Given the description of an element on the screen output the (x, y) to click on. 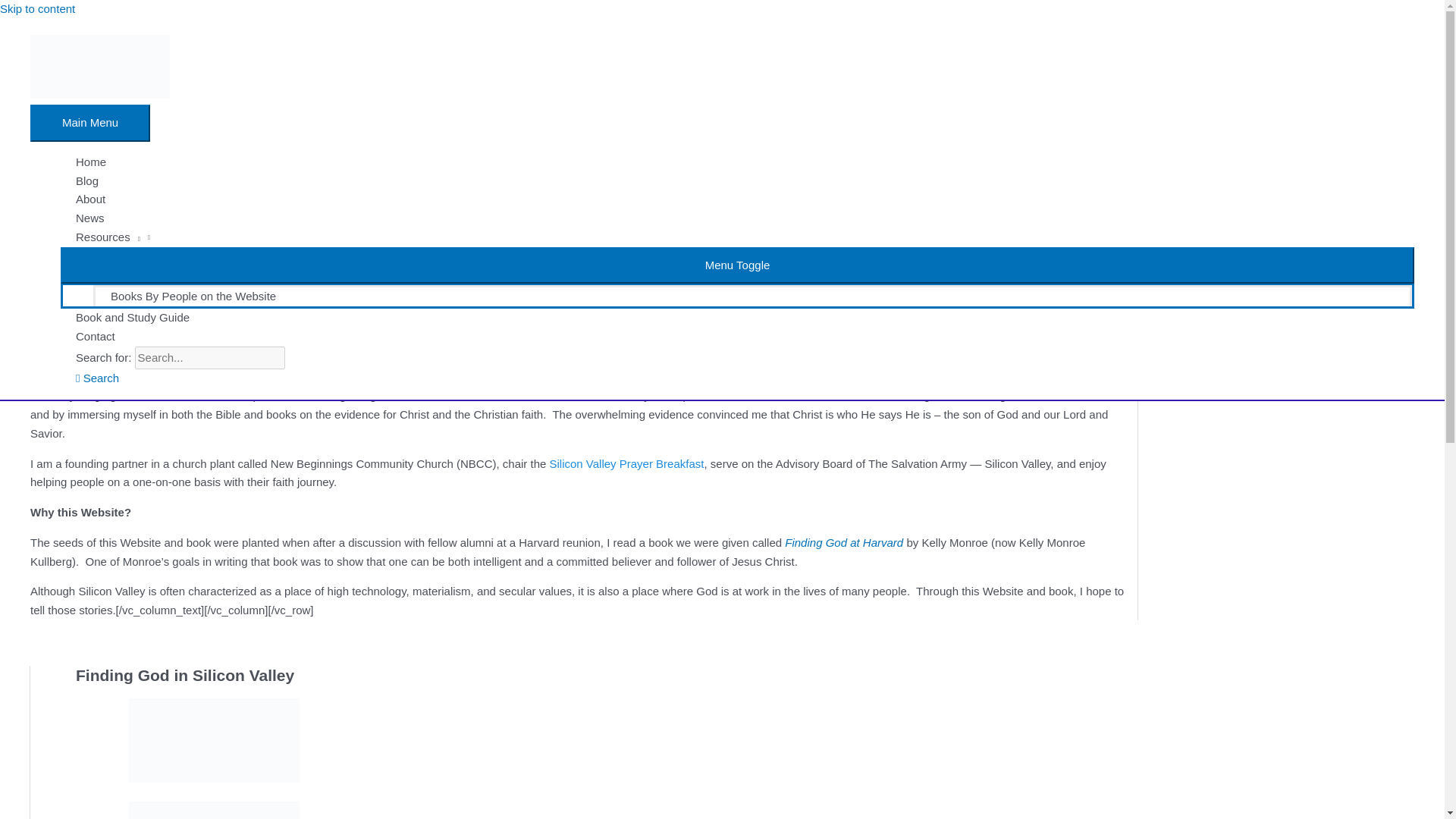
Main Menu (89, 122)
Contact (737, 336)
Resources (737, 237)
Korora Partners (295, 335)
Menu Toggle (737, 265)
Search (97, 377)
Home (737, 162)
Skip to content (37, 8)
Skip to content (37, 8)
Book and Study Guide (737, 317)
